Given the description of an element on the screen output the (x, y) to click on. 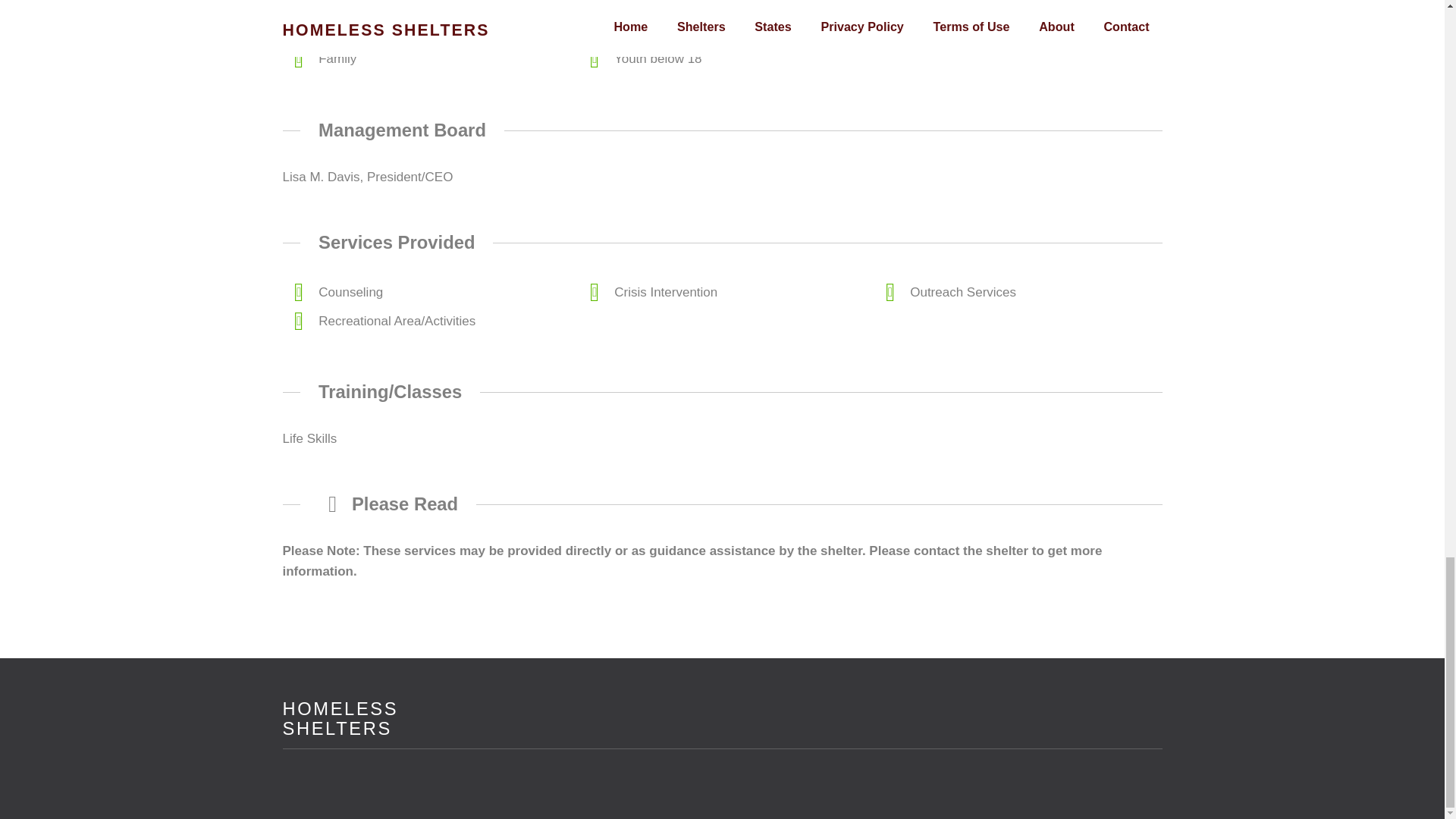
Homeless Shelters (339, 718)
HOMELESS SHELTERS (721, 746)
